Given the description of an element on the screen output the (x, y) to click on. 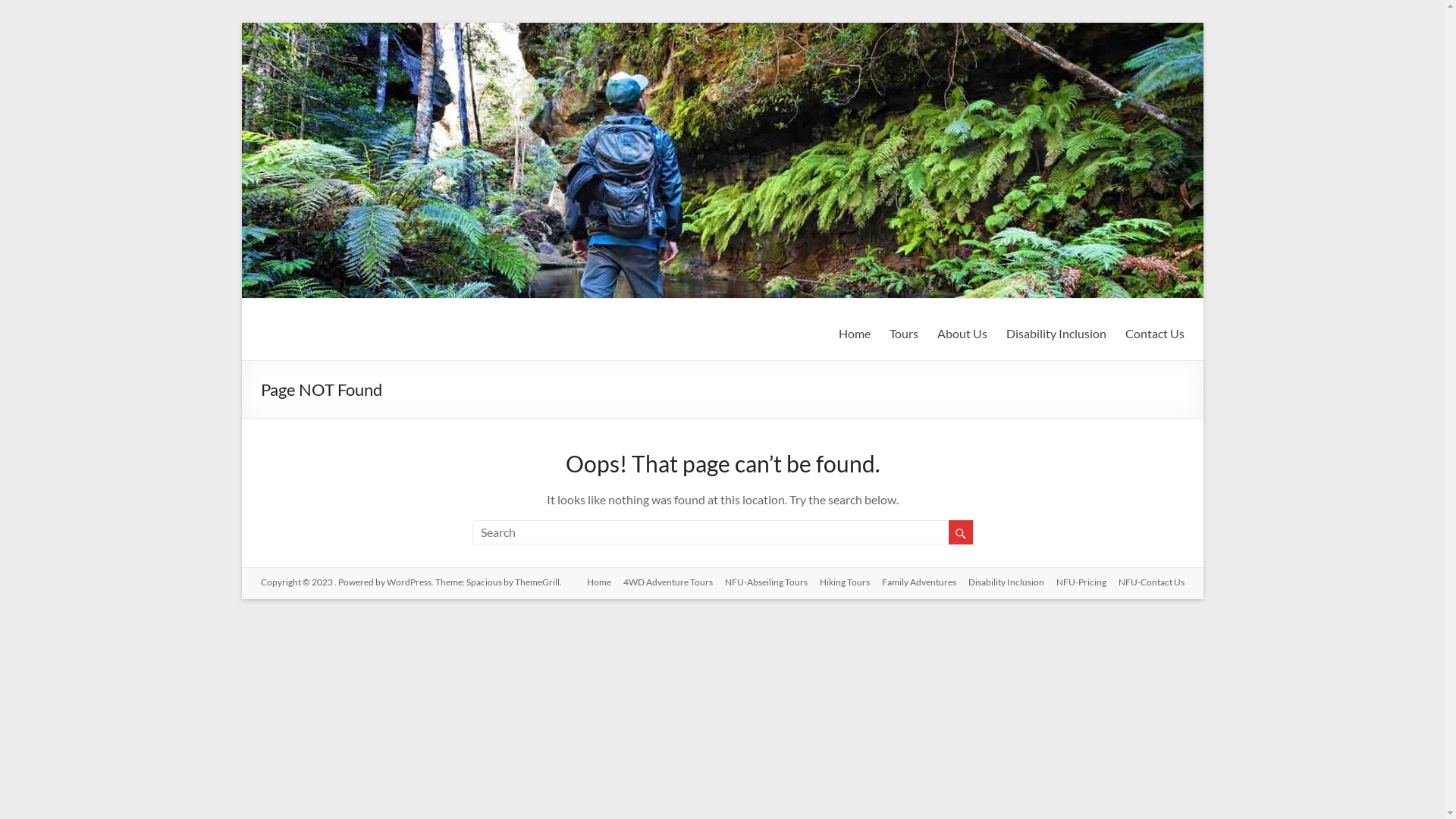
Hiking Tours Element type: text (837, 583)
WordPress Element type: text (408, 581)
Disability Inclusion Element type: text (999, 583)
Home Element type: text (592, 583)
Tours Element type: text (902, 330)
NFU-Abseiling Tours Element type: text (759, 583)
Family Adventures Element type: text (912, 583)
Contact Us Element type: text (1154, 330)
About Us Element type: text (962, 330)
4WD Adventure Tours Element type: text (661, 583)
ThemeGrill Element type: text (536, 581)
NFU-Contact Us Element type: text (1144, 583)
NFU-Pricing Element type: text (1074, 583)
Home Element type: text (854, 330)
Disability Inclusion Element type: text (1055, 330)
